Given the description of an element on the screen output the (x, y) to click on. 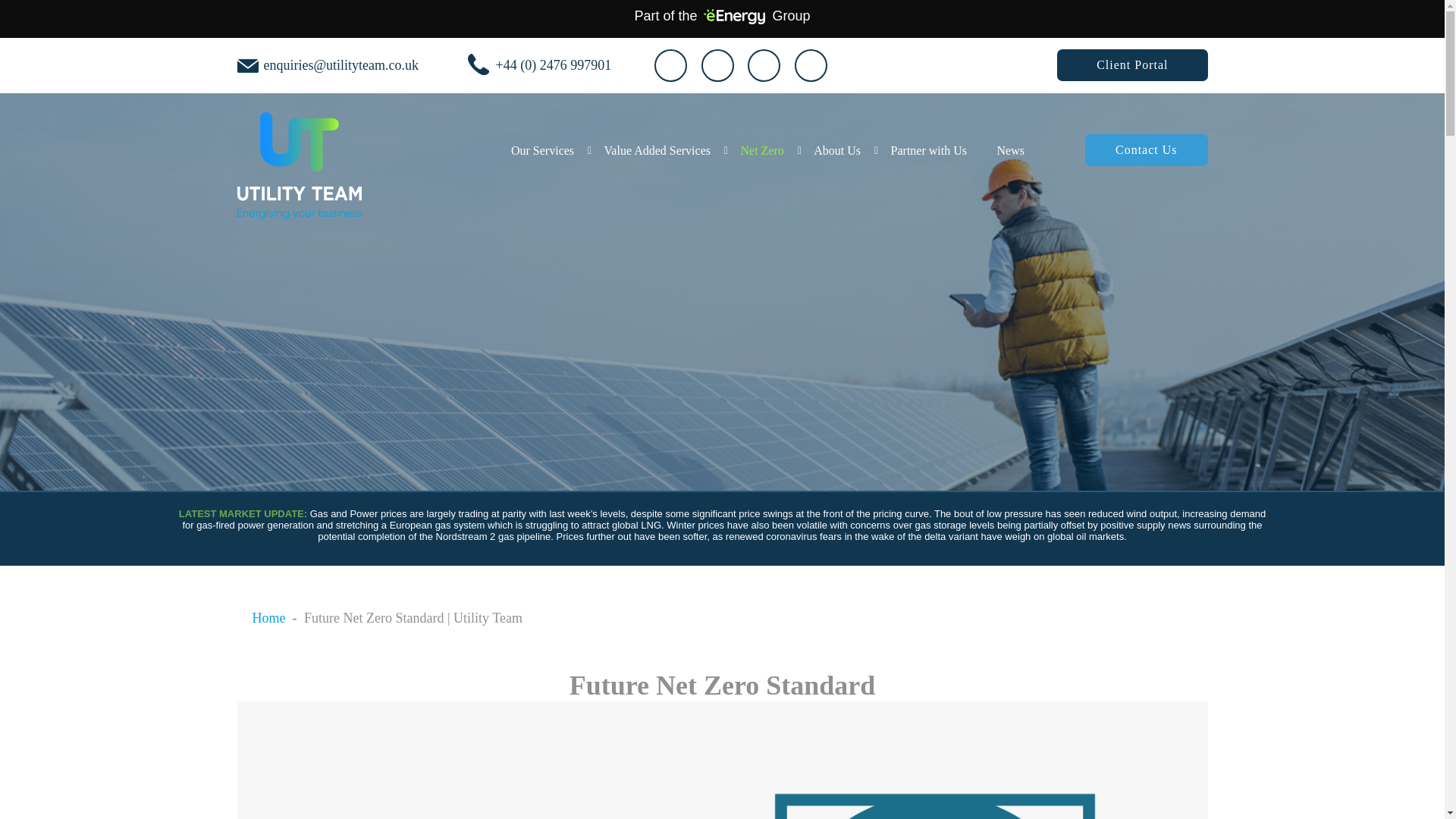
About Us (836, 156)
Utility team (298, 165)
Net Zero (761, 156)
Partner with Us (928, 156)
Value Added Services (657, 156)
News (1011, 156)
Client Portal (1132, 65)
Our Services (542, 156)
